Given the description of an element on the screen output the (x, y) to click on. 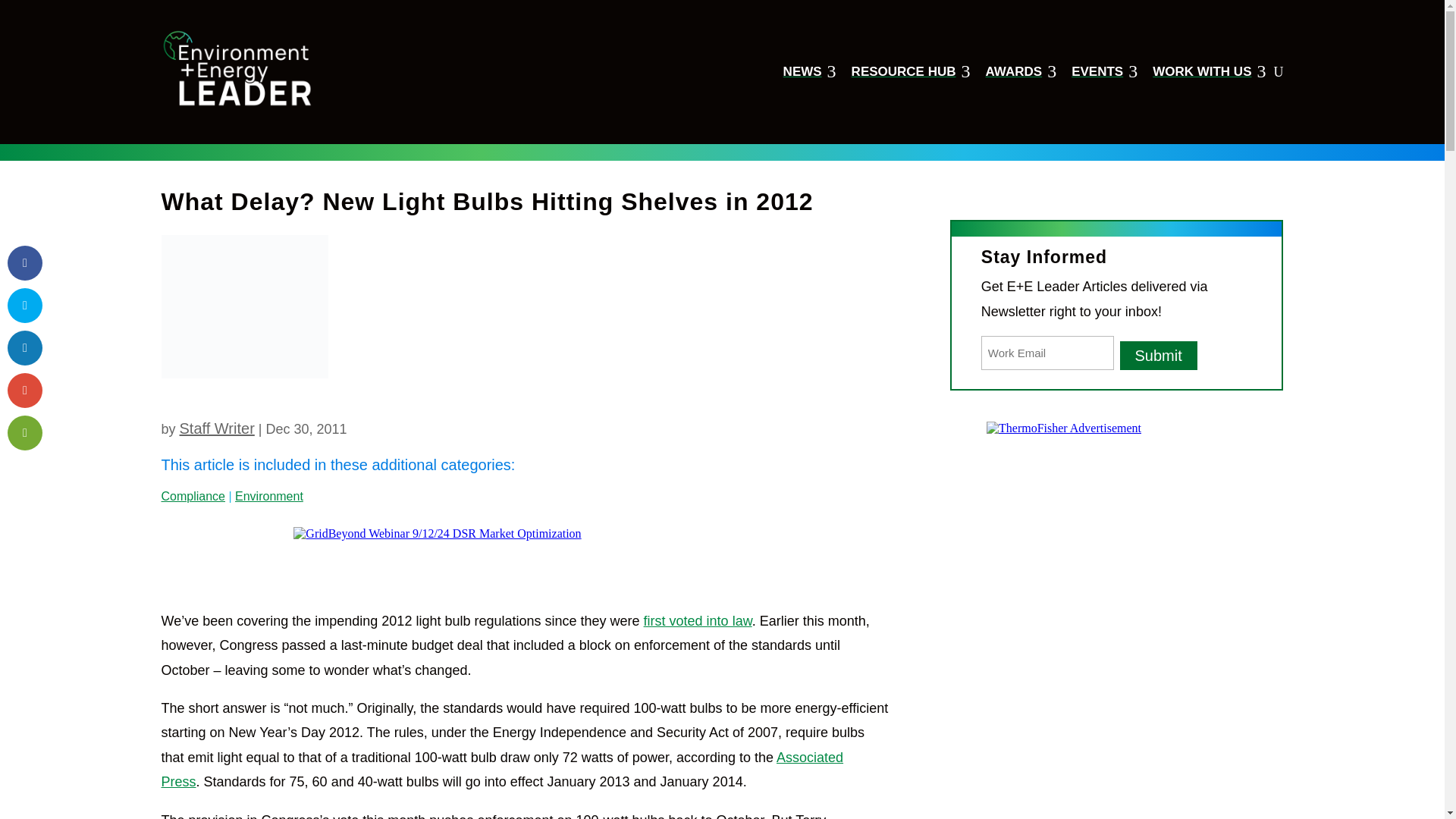
Light bulb (809, 71)
Submit (1104, 71)
Posts by Staff Writer (243, 306)
